Given the description of an element on the screen output the (x, y) to click on. 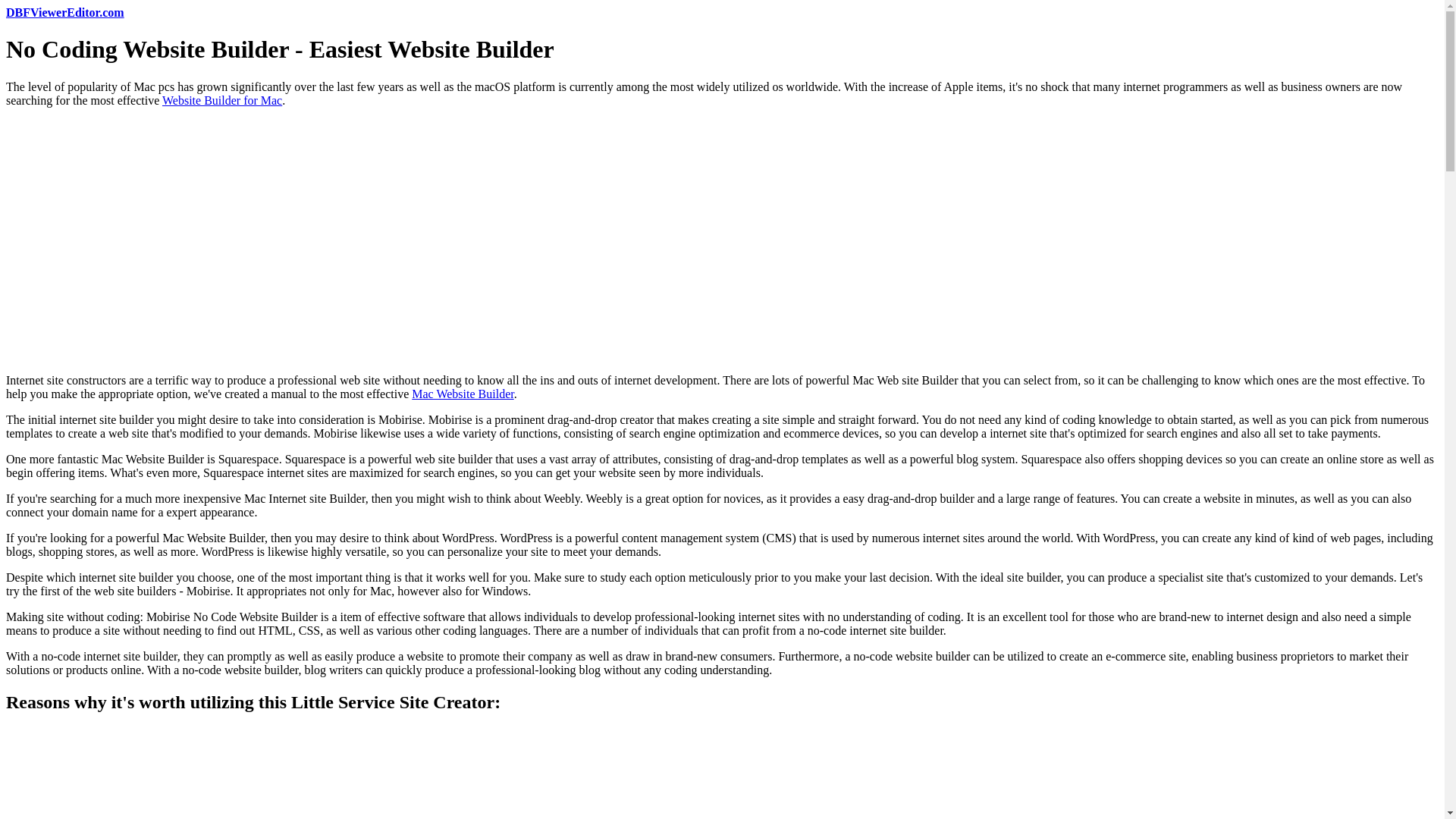
Mac Website Builder (462, 393)
DBFViewerEditor.com (64, 11)
Website Builder for Mac (221, 100)
